Given the description of an element on the screen output the (x, y) to click on. 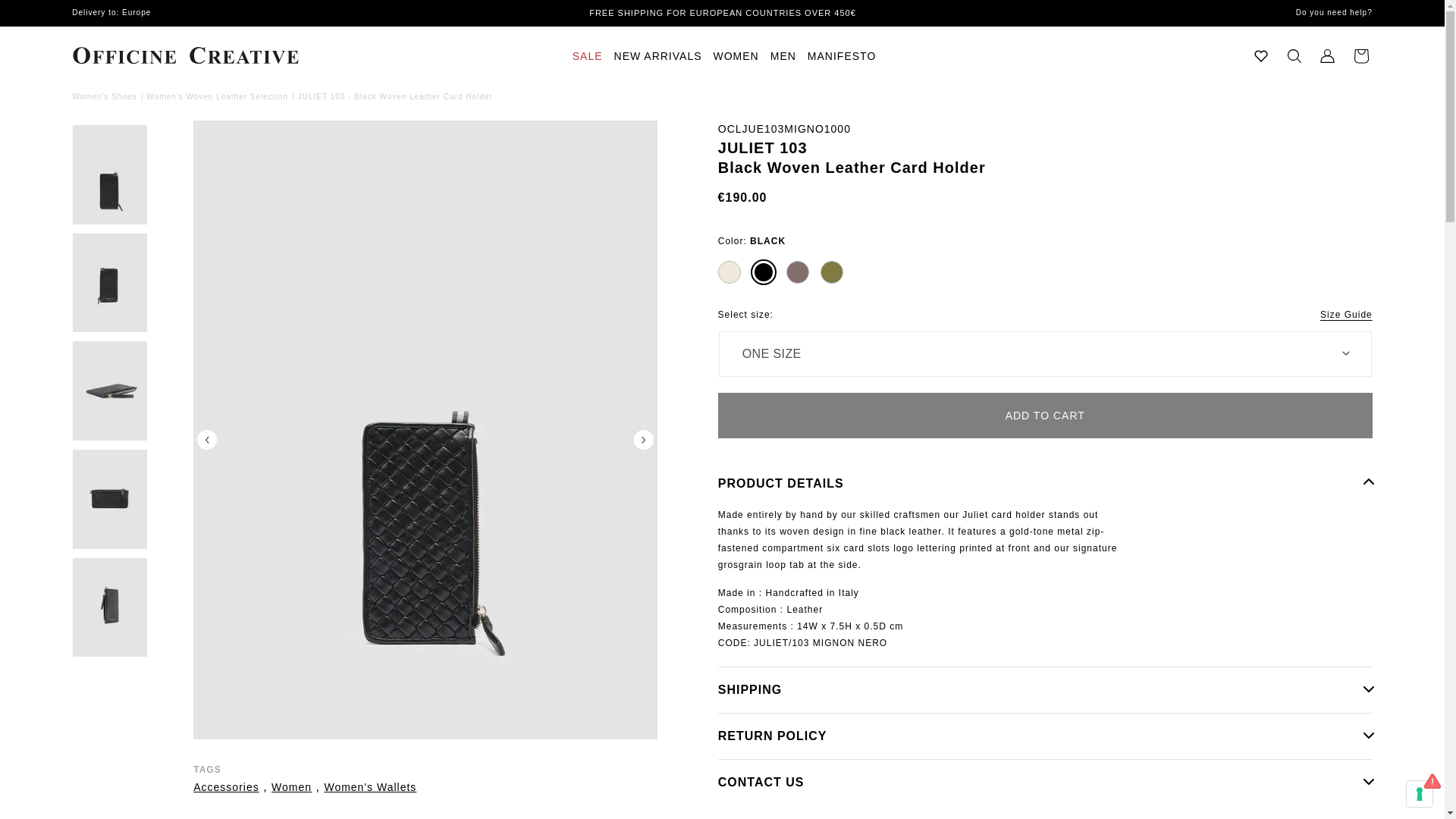
WALNUT (797, 272)
OFF WHITE (729, 272)
Do you need help? (1295, 12)
CONIFERA (832, 272)
Like Love SVG File (1260, 56)
BLACK (763, 272)
